Given the description of an element on the screen output the (x, y) to click on. 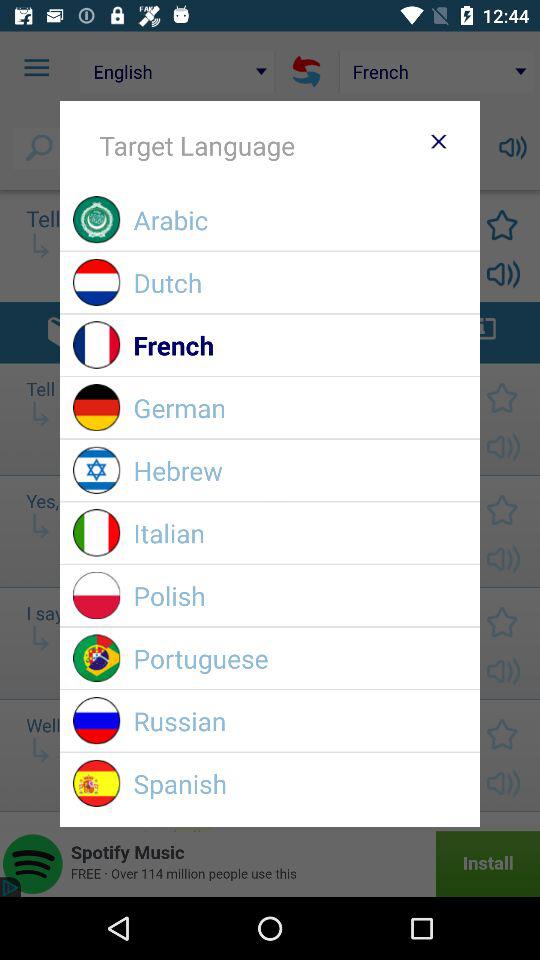
open the spanish (300, 783)
